Given the description of an element on the screen output the (x, y) to click on. 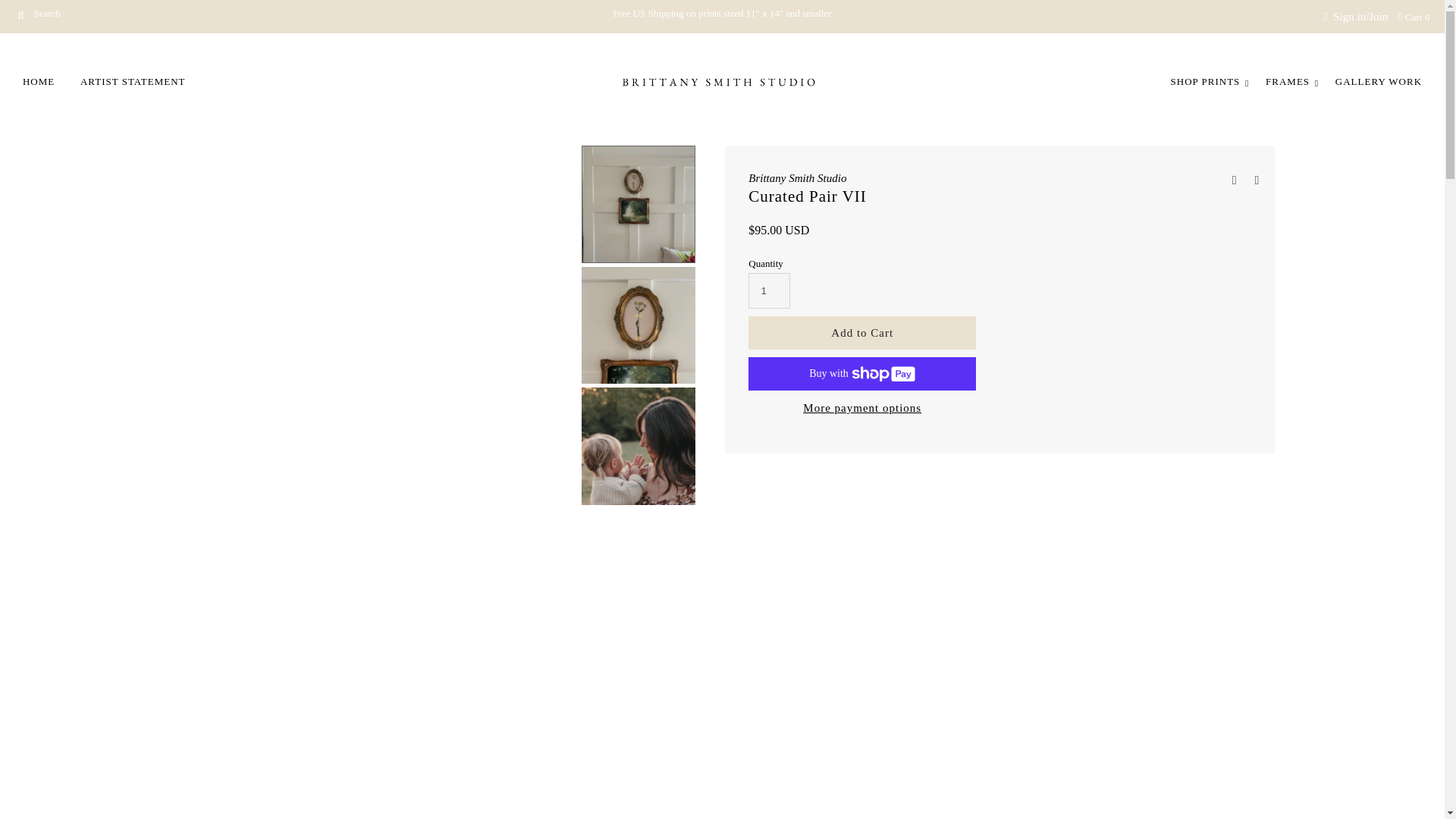
 Cart 0 (1413, 17)
HOME (38, 81)
ARTIST STATEMENT (132, 81)
SHOP PRINTS (1205, 81)
GALLERY WORK (1377, 81)
1 (769, 290)
FRAMES (1286, 81)
Add to Cart (861, 332)
